Given the description of an element on the screen output the (x, y) to click on. 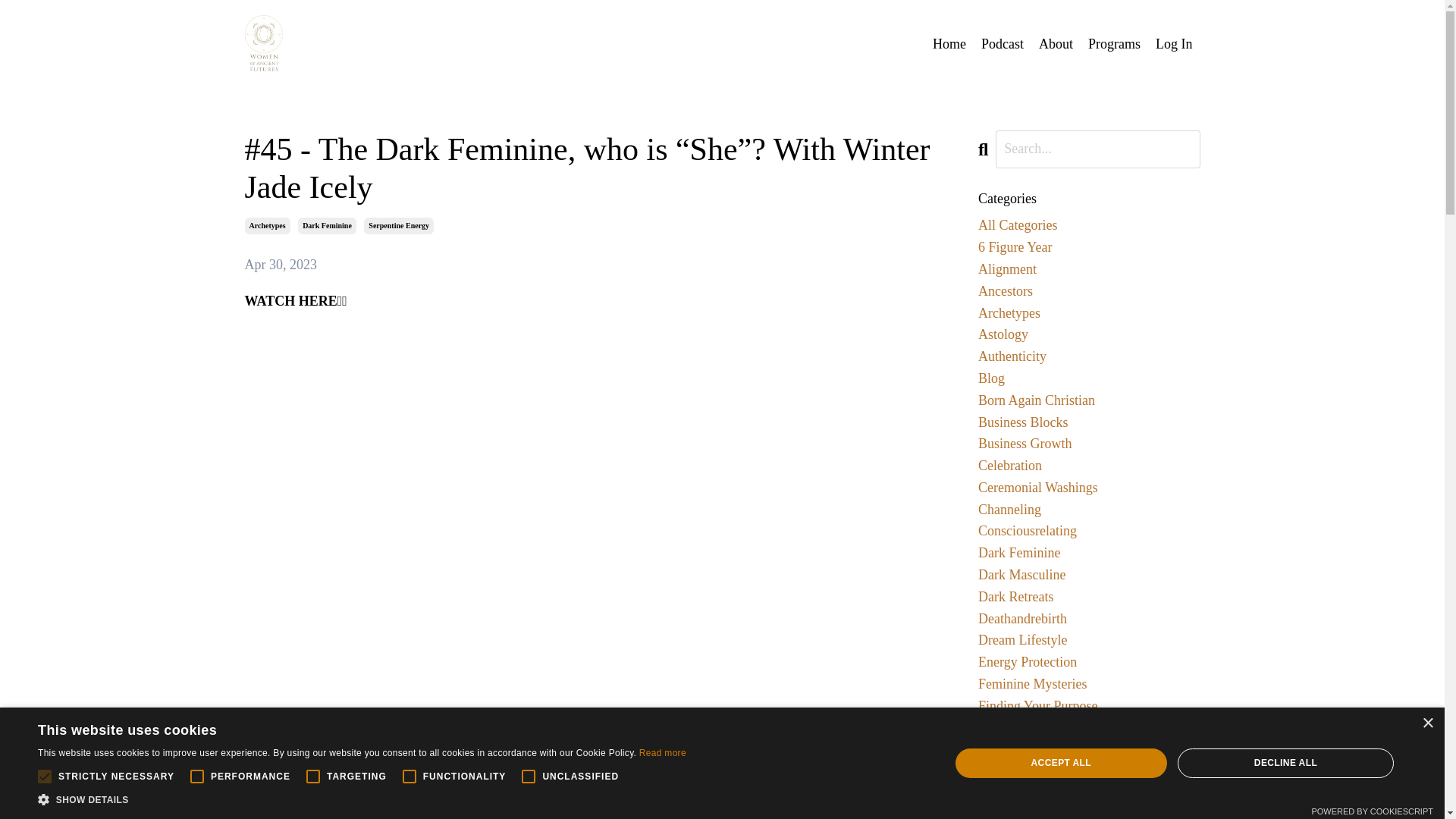
Programs (1113, 44)
Business Growth (1088, 444)
Alignment (1088, 269)
Home (949, 44)
Dream Lifestyle (1088, 640)
Celebration (1088, 465)
Feminine Mysteries (1088, 684)
Dark Masculine (1088, 575)
All Categories (1088, 225)
Finding Your Purpose (1088, 706)
Dark Feminine (1088, 553)
Freedom (1088, 728)
Log In (1174, 43)
Business Blocks (1088, 422)
